Given the description of an element on the screen output the (x, y) to click on. 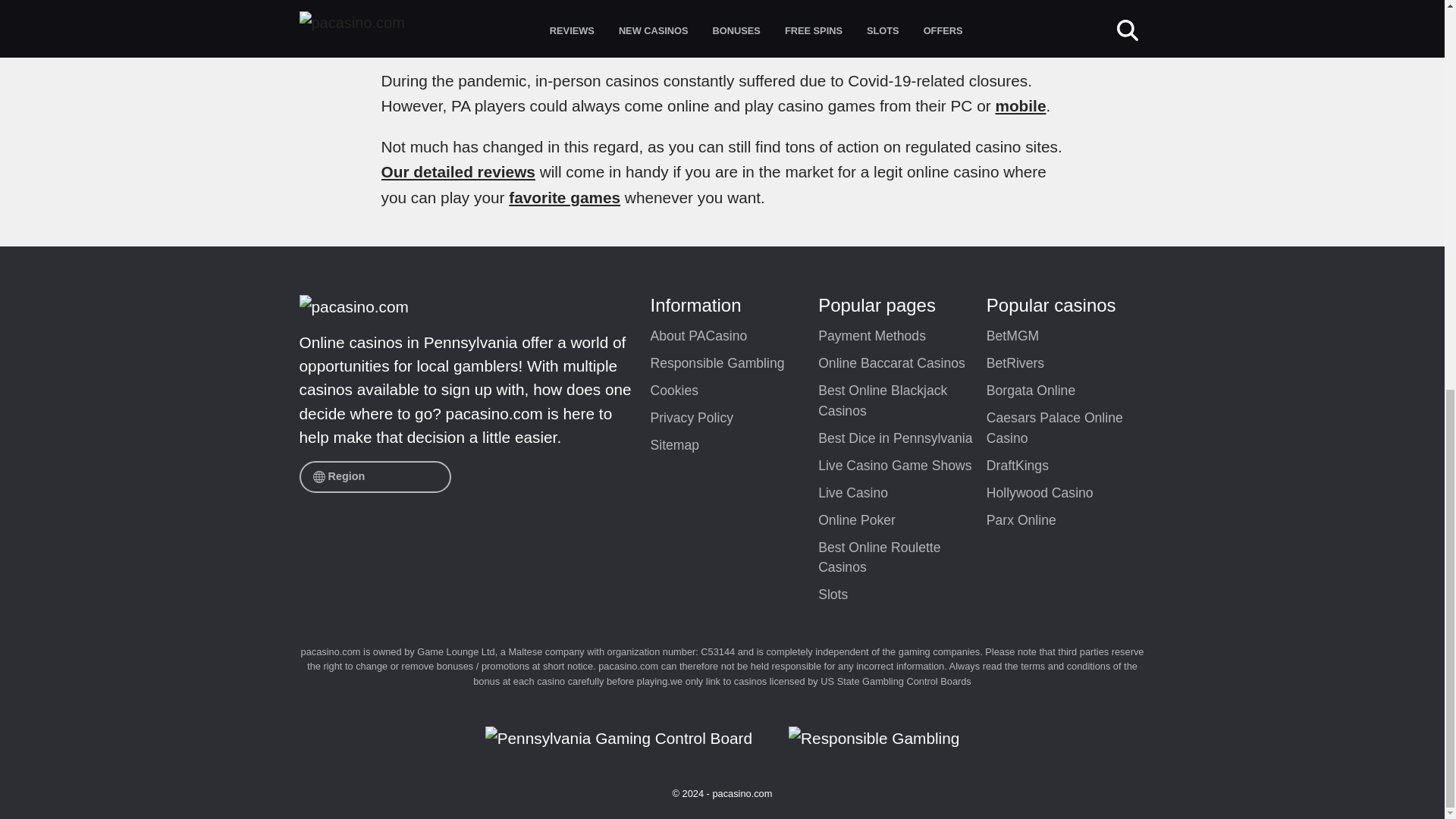
Sitemap (734, 445)
Online Baccarat Casinos (902, 363)
Responsible Gambling (734, 363)
Our detailed reviews (457, 171)
Online Poker (902, 519)
Best Dice in Pennsylvania (902, 438)
Caesars Palace Online Casino (1070, 428)
Payment Methods (902, 336)
About PACasino (734, 336)
Cookies (734, 390)
